Given the description of an element on the screen output the (x, y) to click on. 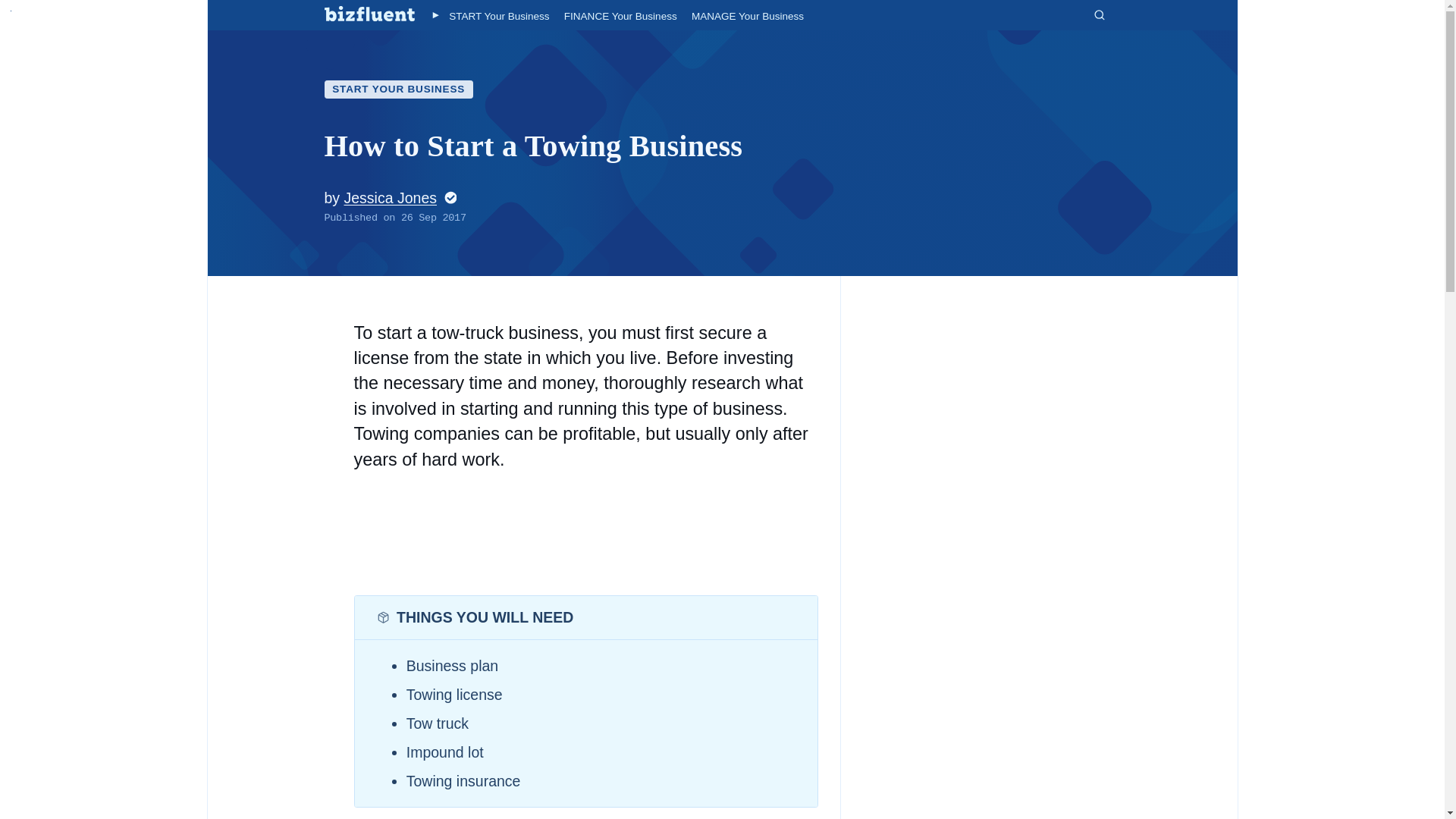
FINANCE Your Business (620, 16)
MANAGE Your Business (747, 16)
START Your Business (498, 16)
